Given the description of an element on the screen output the (x, y) to click on. 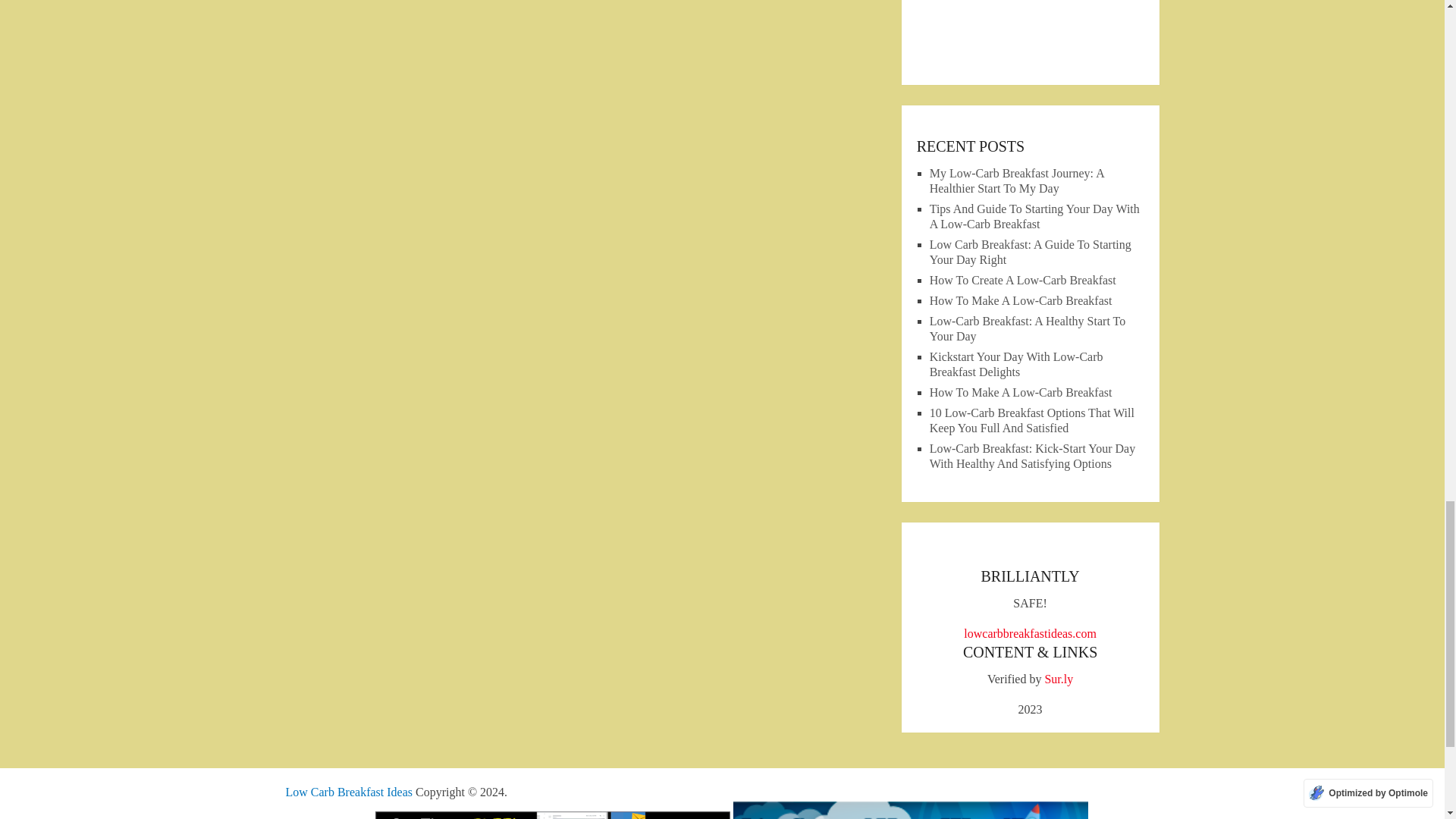
My Low-Carb Breakfast Journey: A Healthier Start To My Day (1016, 180)
How To Create A Low-Carb Breakfast (1023, 279)
Low Carb Breakfast: A Guide To Starting Your Day Right (1030, 252)
How To Make A Low-Carb Breakfast (1021, 300)
Low Carb Breakfast Ideas (348, 791)
Sur.ly (1058, 678)
How To Make A Low-Carb Breakfast (1021, 391)
Low-Carb Breakfast: A Healthy Start To Your Day (1027, 328)
Kickstart Your Day With Low-Carb Breakfast Delights (1016, 364)
lowcarbbreakfastideas.com (1029, 633)
